Given the description of an element on the screen output the (x, y) to click on. 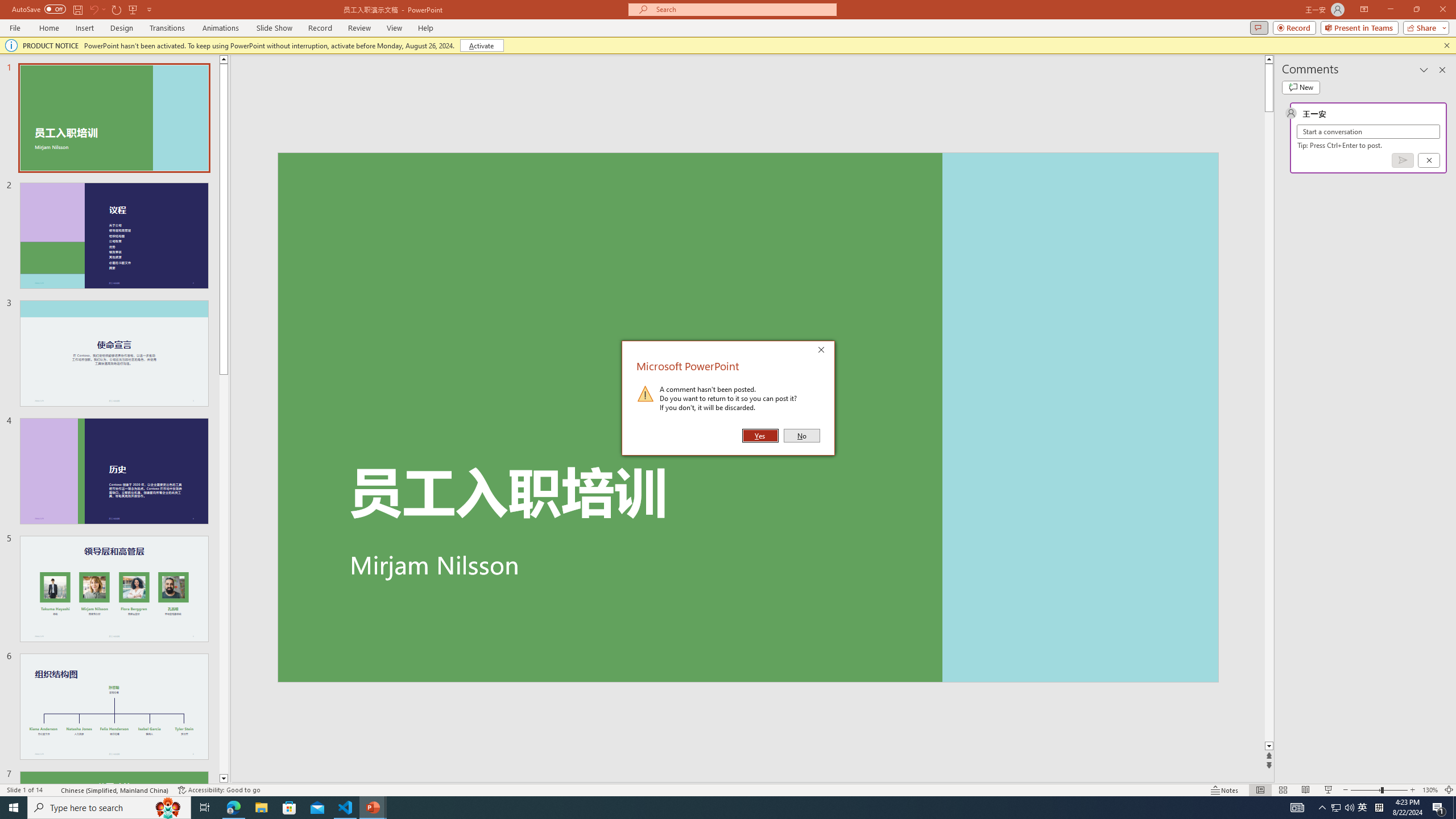
Zoom 130% (1430, 790)
